Given the description of an element on the screen output the (x, y) to click on. 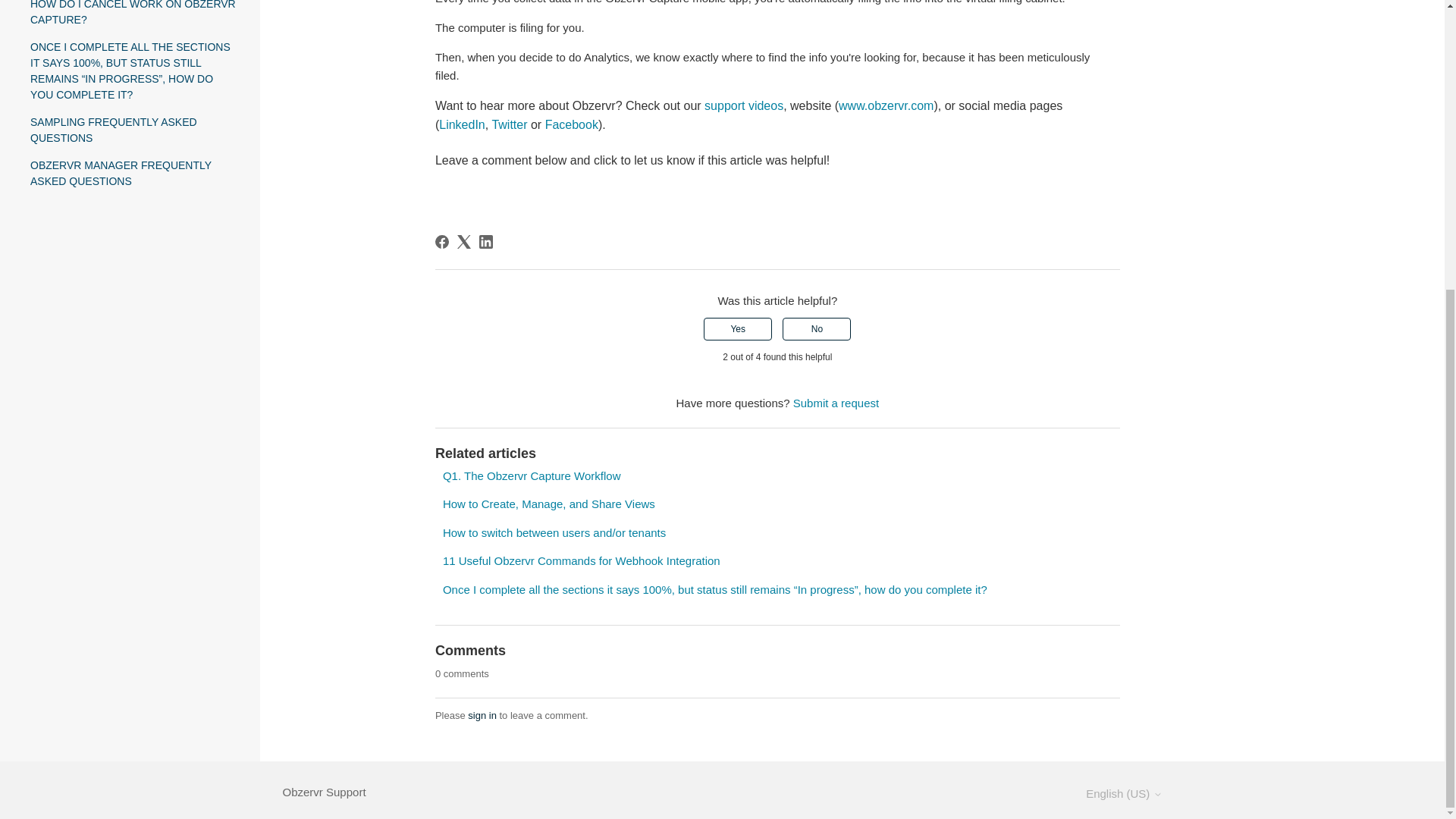
Q1. The Obzervr Capture Workflow (531, 475)
Yes (737, 328)
No (816, 328)
11 Useful Obzervr Commands for Webhook Integration (581, 560)
www.obzervr.com (885, 105)
How to Create, Manage, and Share Views (548, 503)
support videos (743, 105)
Twitter (509, 124)
Submit a request (836, 402)
HOW DO I CANCEL WORK ON OBZERVR CAPTURE? (133, 13)
Obzervr Support (323, 792)
Facebook (571, 124)
sign in (481, 715)
OBZERVR MANAGER FREQUENTLY ASKED QUESTIONS (133, 173)
Home (323, 792)
